Given the description of an element on the screen output the (x, y) to click on. 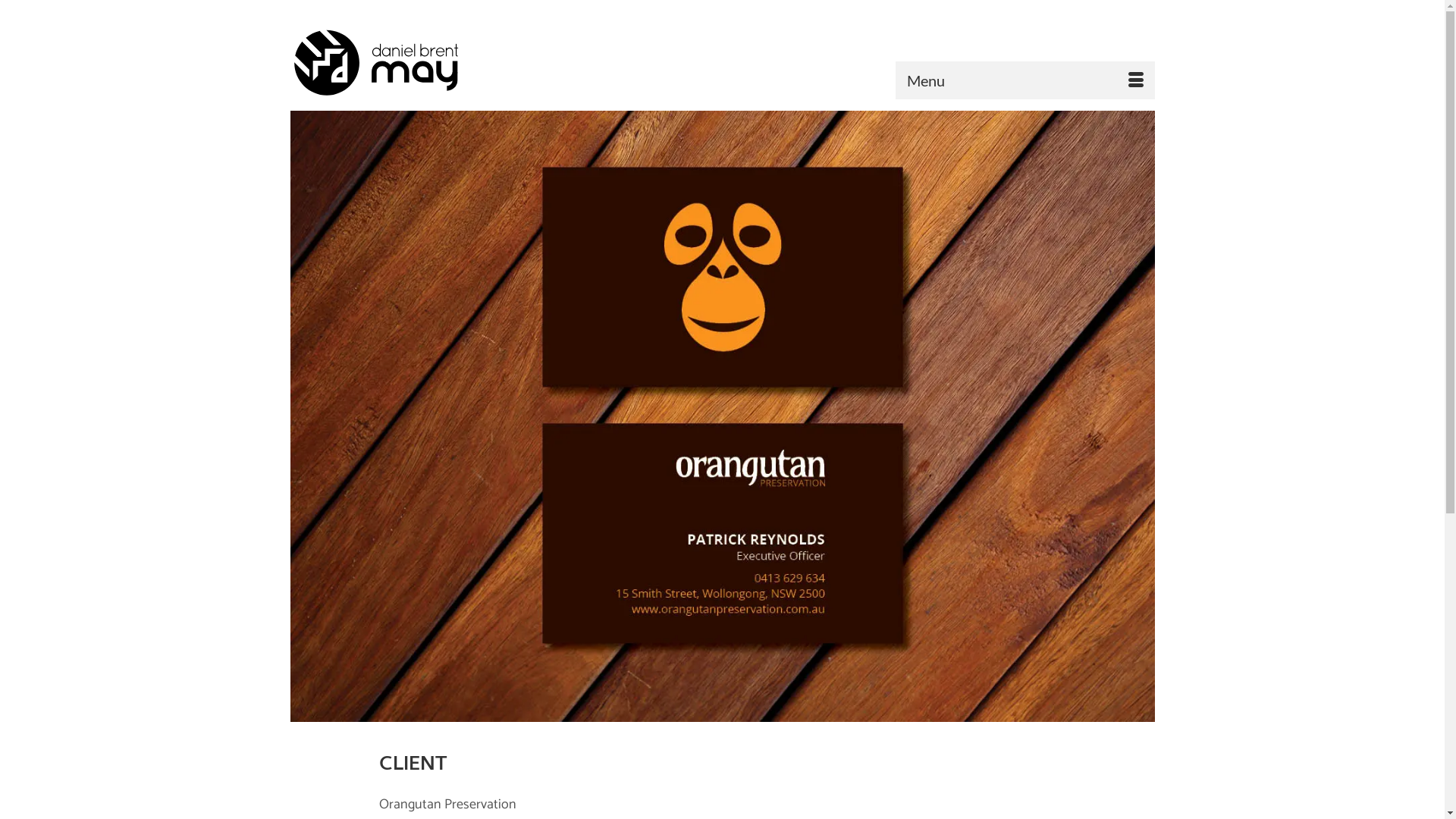
Menu Element type: text (1024, 80)
Daniel Brent May Element type: hover (425, 62)
